Given the description of an element on the screen output the (x, y) to click on. 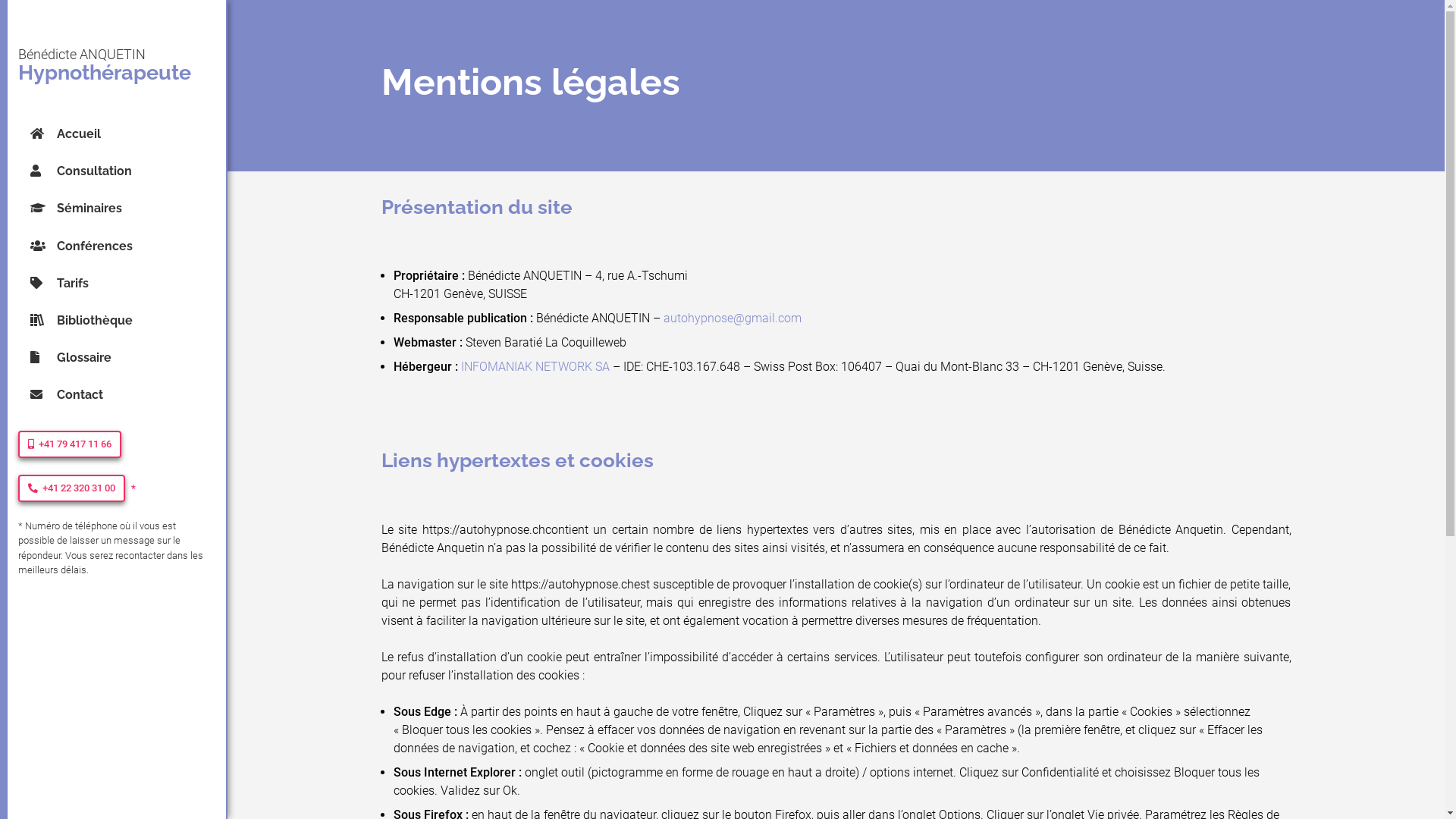
Contact Element type: text (128, 394)
autohypnose@gmail.com Element type: text (731, 317)
+41 22 320 31 00 Element type: text (71, 488)
Accueil Element type: text (128, 133)
Consultation Element type: text (128, 170)
INFOMANIAK NETWORK SA Element type: text (535, 366)
+41 79 417 11 66 Element type: text (69, 444)
Glossaire Element type: text (128, 357)
Tarifs Element type: text (128, 282)
